Given the description of an element on the screen output the (x, y) to click on. 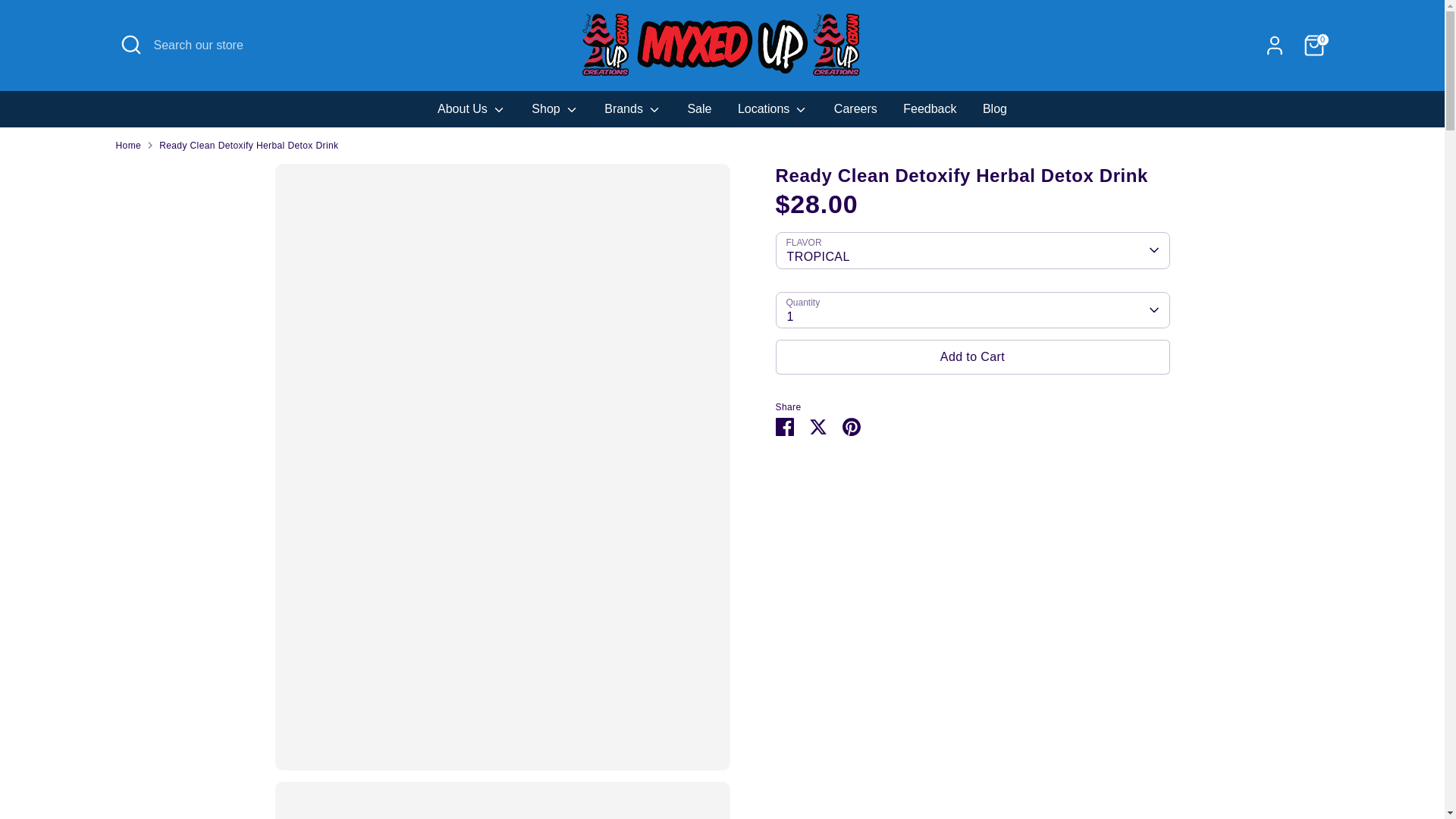
0 (1312, 45)
